Given the description of an element on the screen output the (x, y) to click on. 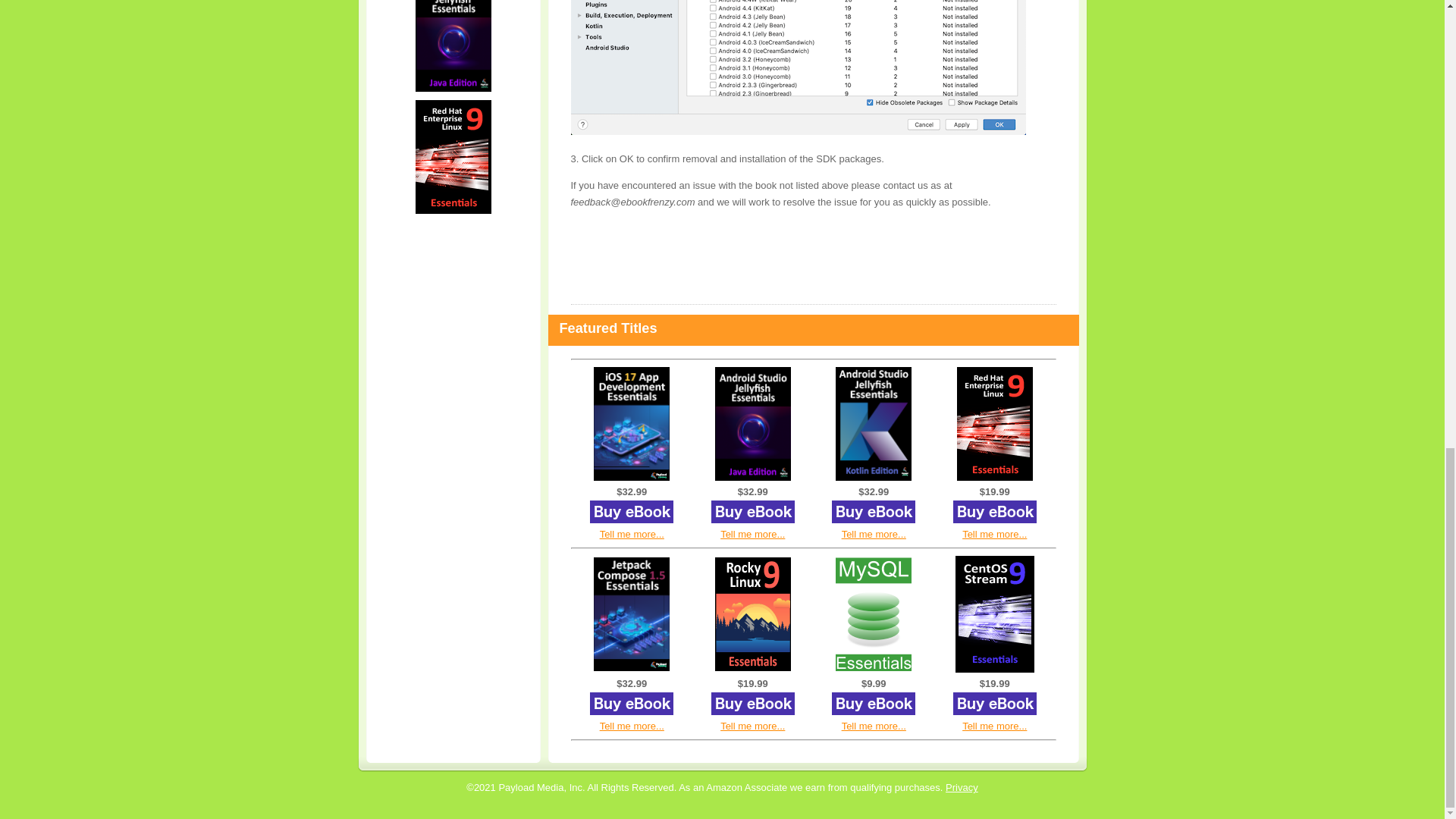
Tell me more... (873, 533)
Tell me more... (631, 726)
Tell me more... (752, 533)
E-mail Us (961, 787)
Tell me more... (994, 533)
Tell me more... (752, 726)
Tell me more... (631, 533)
Tell me more... (873, 726)
Tell me more... (994, 726)
